Given the description of an element on the screen output the (x, y) to click on. 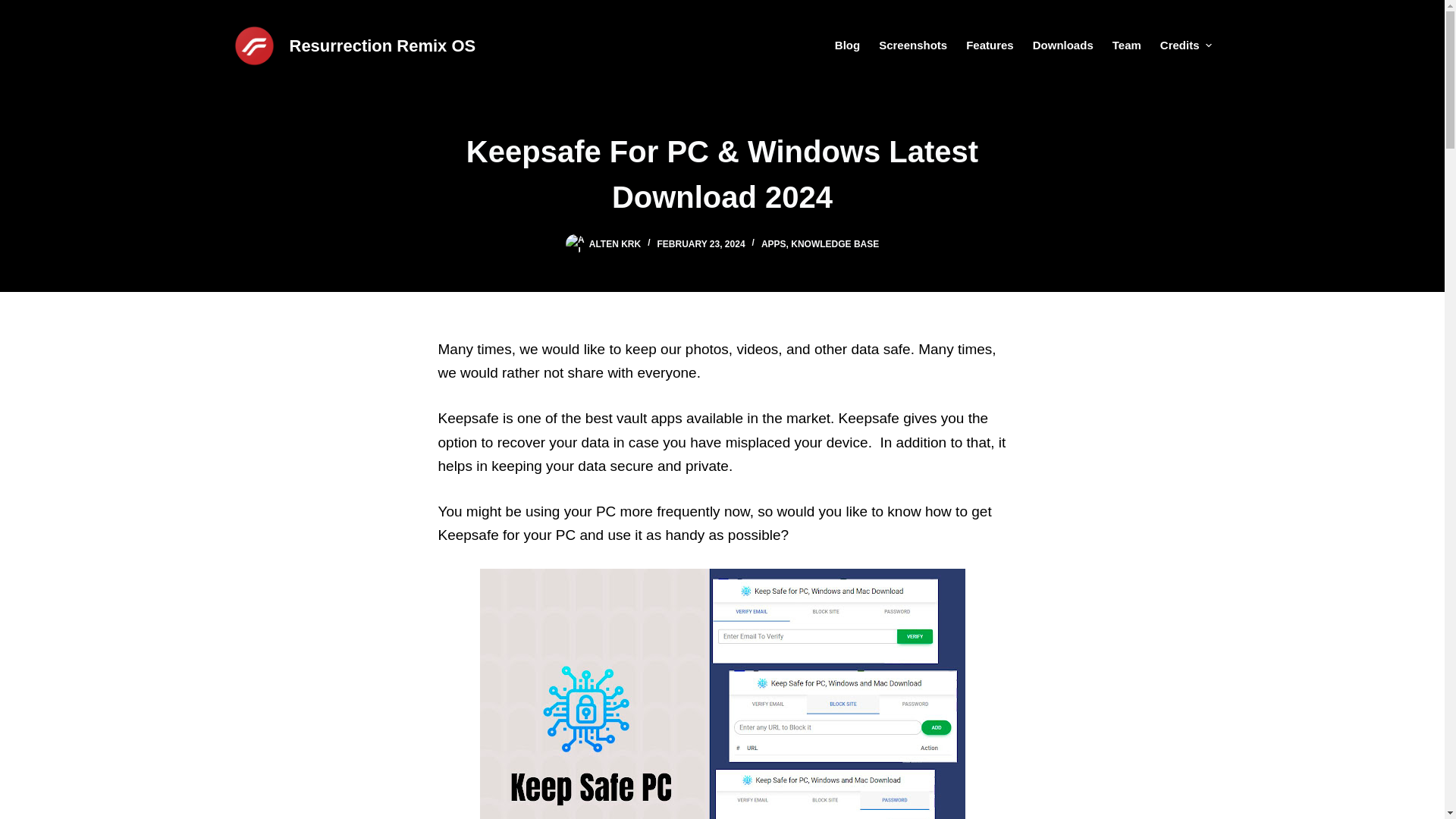
Posts by Alten KRK (614, 244)
Screenshots (912, 45)
Skip to content (15, 7)
KNOWLEDGE BASE (834, 244)
Resurrection Remix OS (382, 45)
ALTEN KRK (614, 244)
APPS (773, 244)
